Given the description of an element on the screen output the (x, y) to click on. 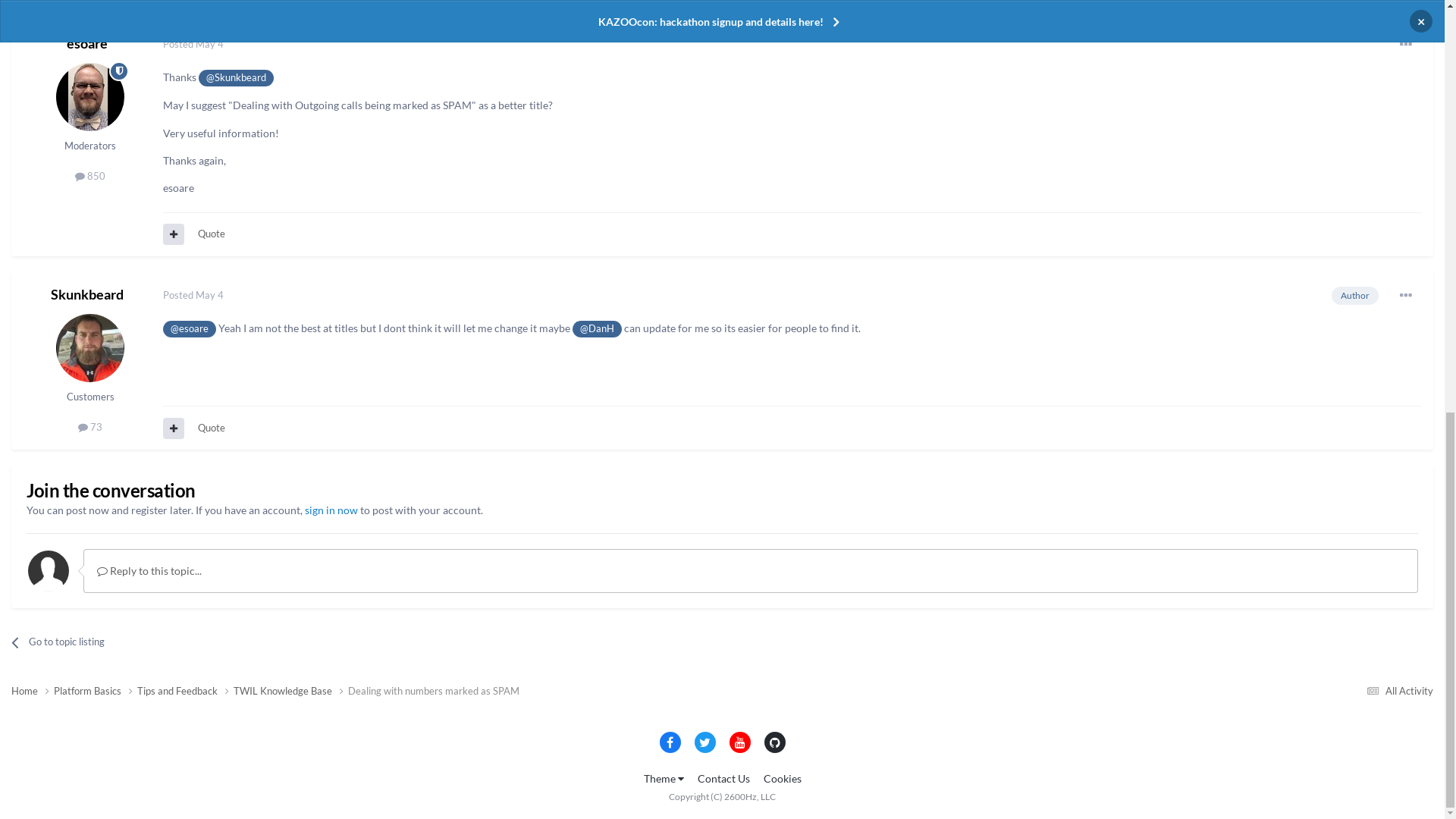
Reply to this topic Element type: text (1359, 392)
More options... Element type: hover (1405, 464)
Skunkbeard Element type: text (111, 319)
73 Element type: text (90, 595)
(see edit history) Element type: text (251, 734)
MultiQuote Element type: hover (173, 780)
Existing user? Sign In   Element type: text (1303, 73)
Followers
2 Element type: text (1367, 328)
spam Element type: text (45, 280)
Posted August 4, 2022 Element type: text (213, 464)
TWIL Knowledge Base Element type: text (290, 200)
Platform Basics Element type: text (95, 200)
Support Element type: text (289, 122)
Quote Element type: text (211, 780)
In the Cloud w/2600Hz Podcast Element type: text (403, 122)
Tips and Feedback Element type: text (185, 200)
Skunkbeard Element type: text (86, 462)
Go to Skunkbeard's profile Element type: hover (42, 328)
IRC Chat Element type: text (92, 161)
Go to Skunkbeard's profile Element type: hover (90, 517)
Forums Element type: text (29, 161)
Sign Up Element type: text (1400, 72)
Home Element type: text (32, 200)
Products Element type: text (226, 122)
Community Forums Element type: text (136, 122)
https://freecallerregistry.com/ Element type: text (310, 579)
TWIL Knowledge Base Element type: text (204, 336)
Start new topic Element type: text (1225, 392)
 Share Element type: text (1279, 328)
Welcome Element type: text (45, 122)
All Activity Element type: text (1397, 200)
https://www.voicespamfeedback.com/vsf/ Element type: text (302, 551)
